Given the description of an element on the screen output the (x, y) to click on. 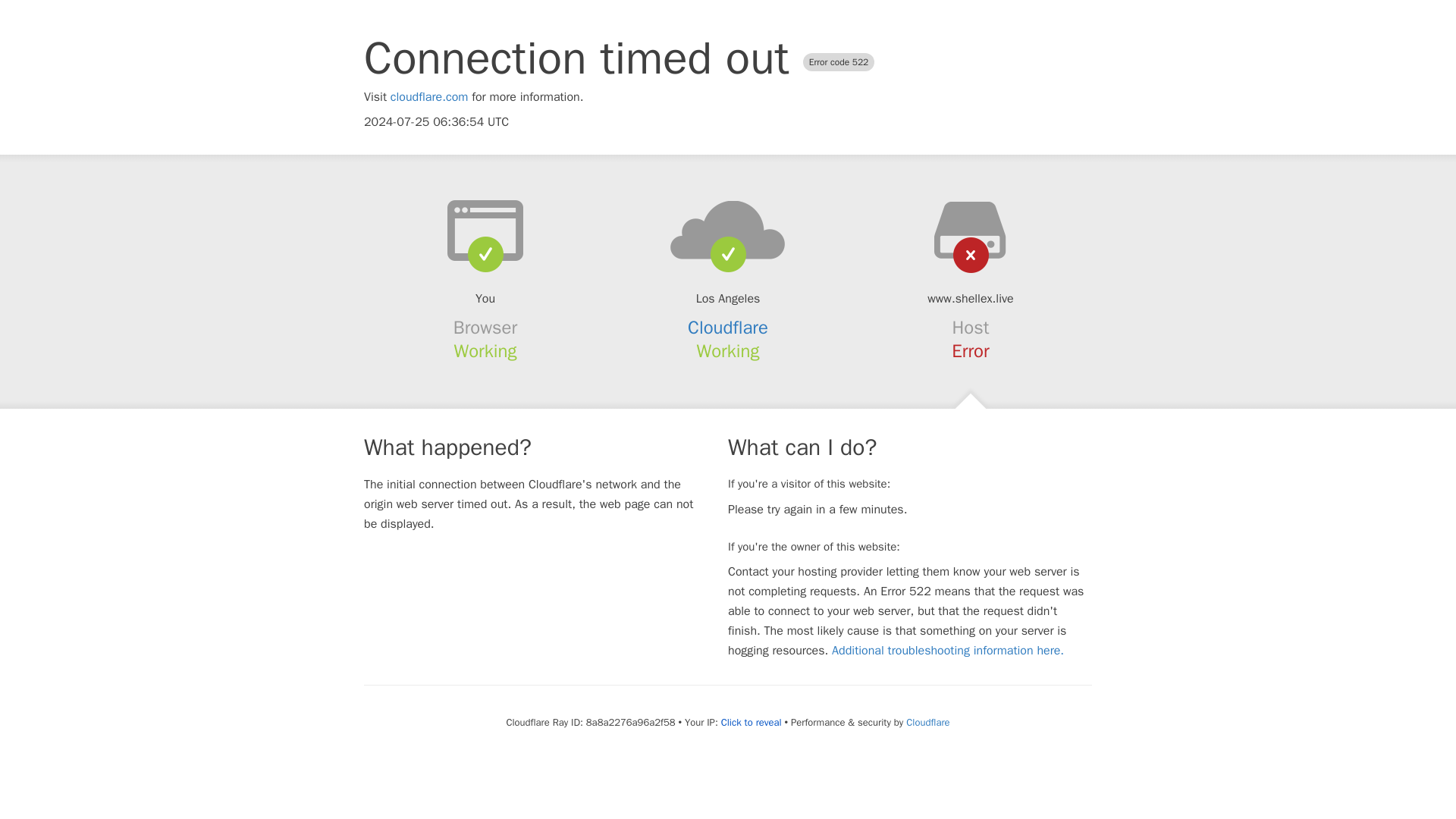
Click to reveal (750, 722)
cloudflare.com (429, 96)
Additional troubleshooting information here. (947, 650)
Cloudflare (727, 327)
Cloudflare (927, 721)
